Given the description of an element on the screen output the (x, y) to click on. 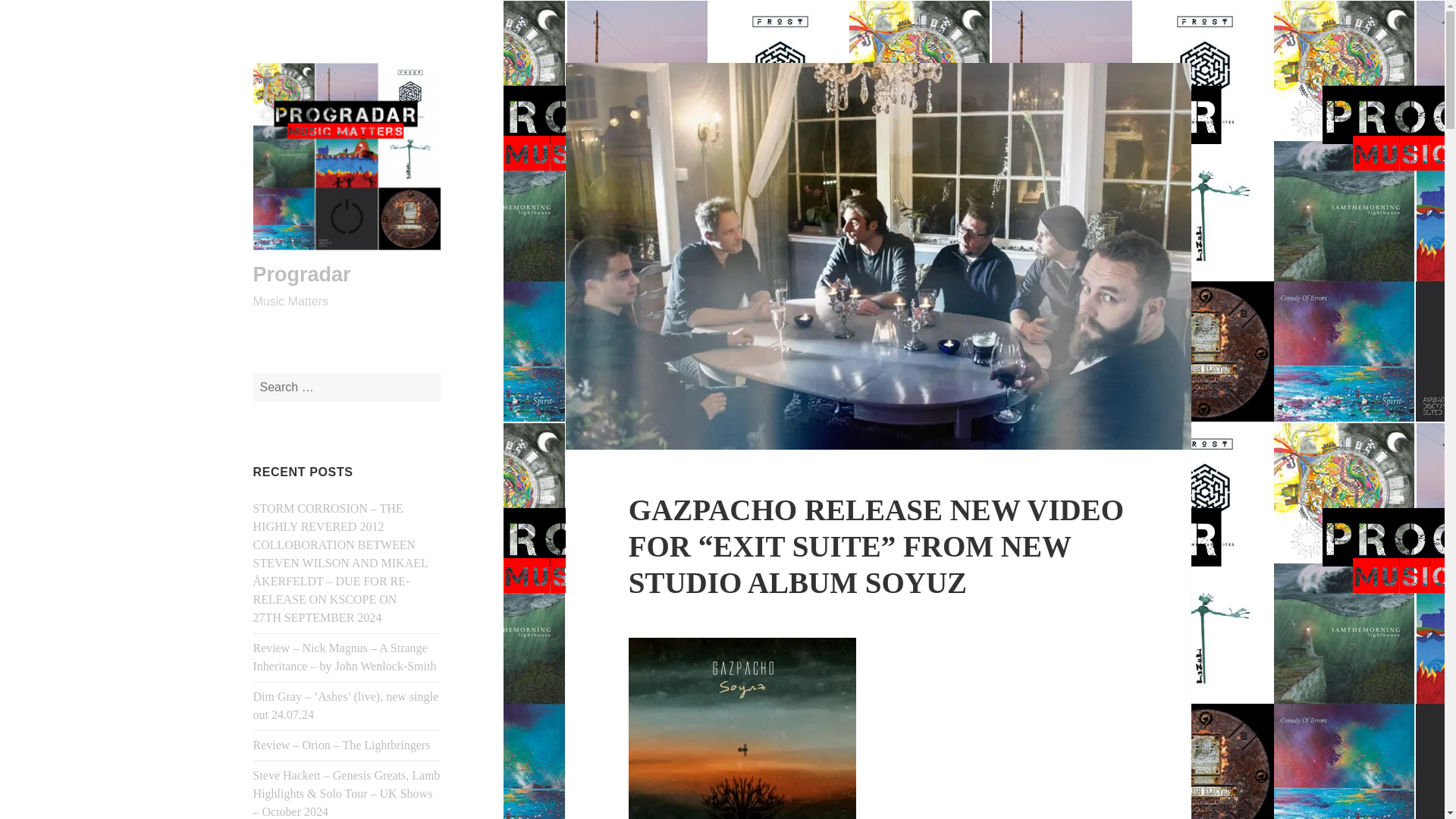
Progradar (301, 273)
